Given the description of an element on the screen output the (x, y) to click on. 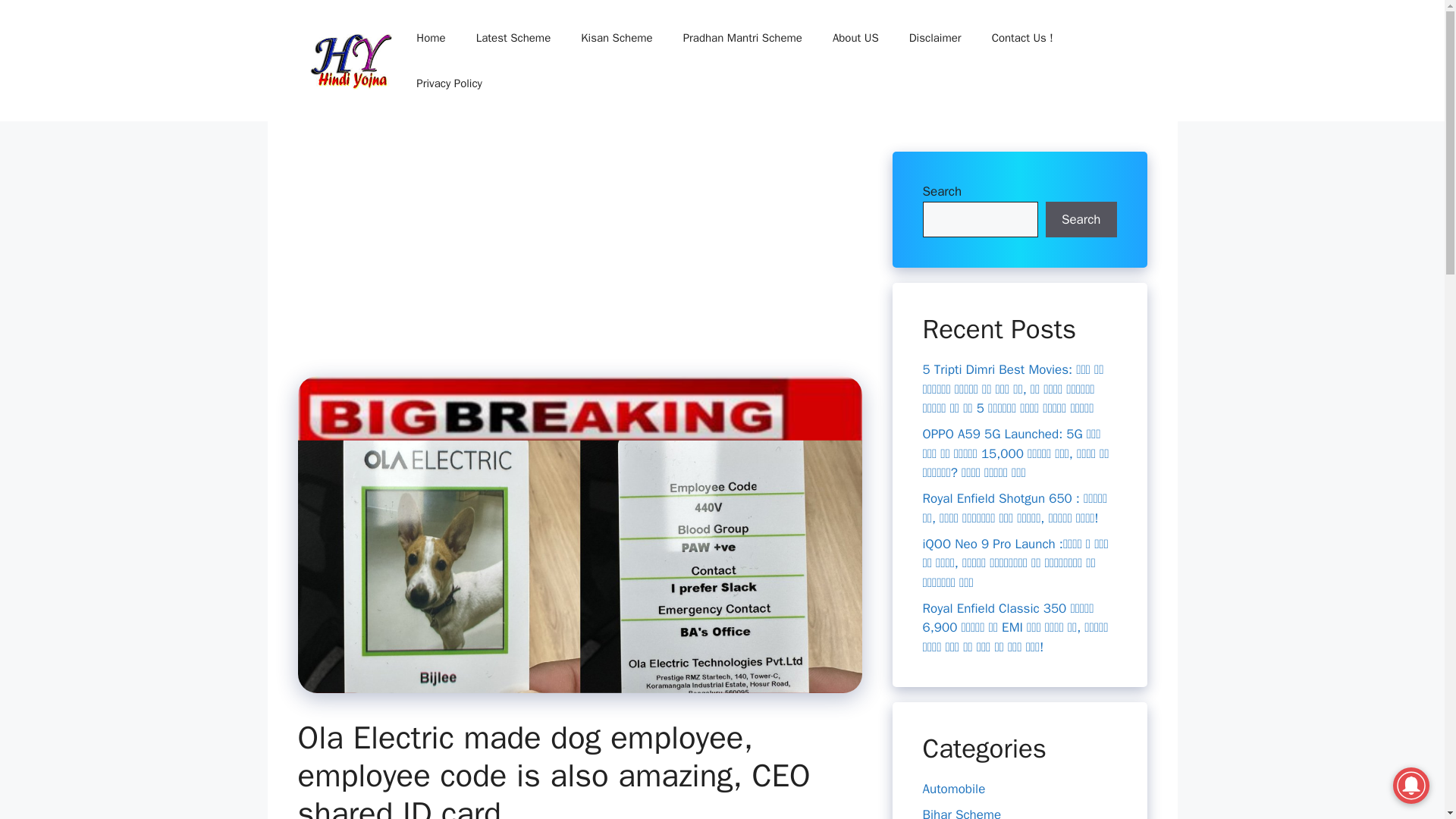
Automobile (953, 788)
Latest Scheme (513, 37)
Bihar Scheme (961, 812)
Home (430, 37)
Advertisement (591, 264)
Kisan Scheme (616, 37)
Disclaimer (934, 37)
Contact Us ! (1022, 37)
Pradhan Mantri Scheme (742, 37)
About US (854, 37)
